Given the description of an element on the screen output the (x, y) to click on. 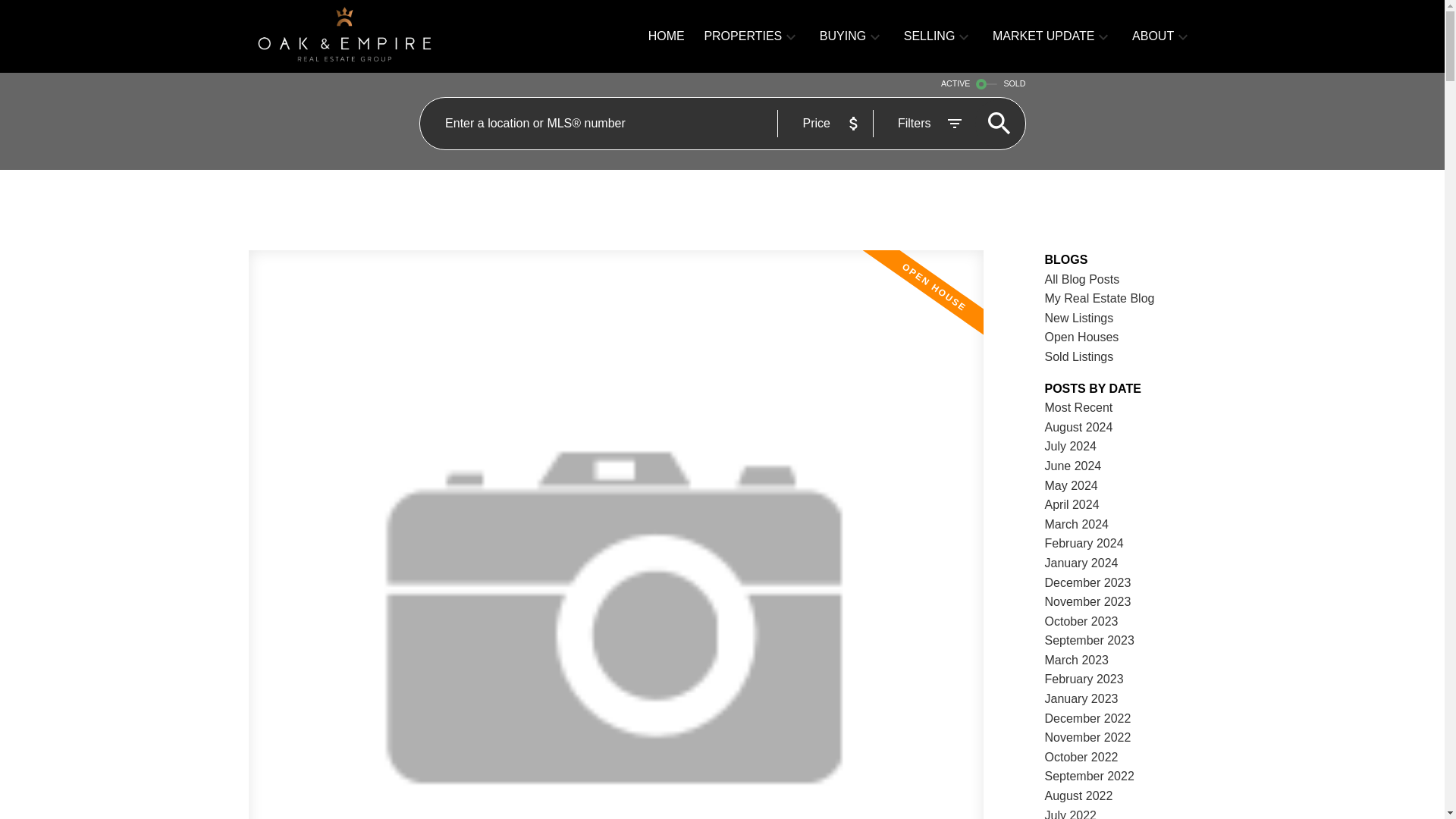
July 2024 (1071, 445)
Sold Listings (1079, 356)
May 2024 (1071, 485)
August 2024 (1079, 427)
HOME (665, 35)
Open Houses (1082, 336)
January 2024 (1081, 562)
June 2024 (1073, 465)
February 2024 (1084, 543)
December 2023 (1088, 582)
